Given the description of an element on the screen output the (x, y) to click on. 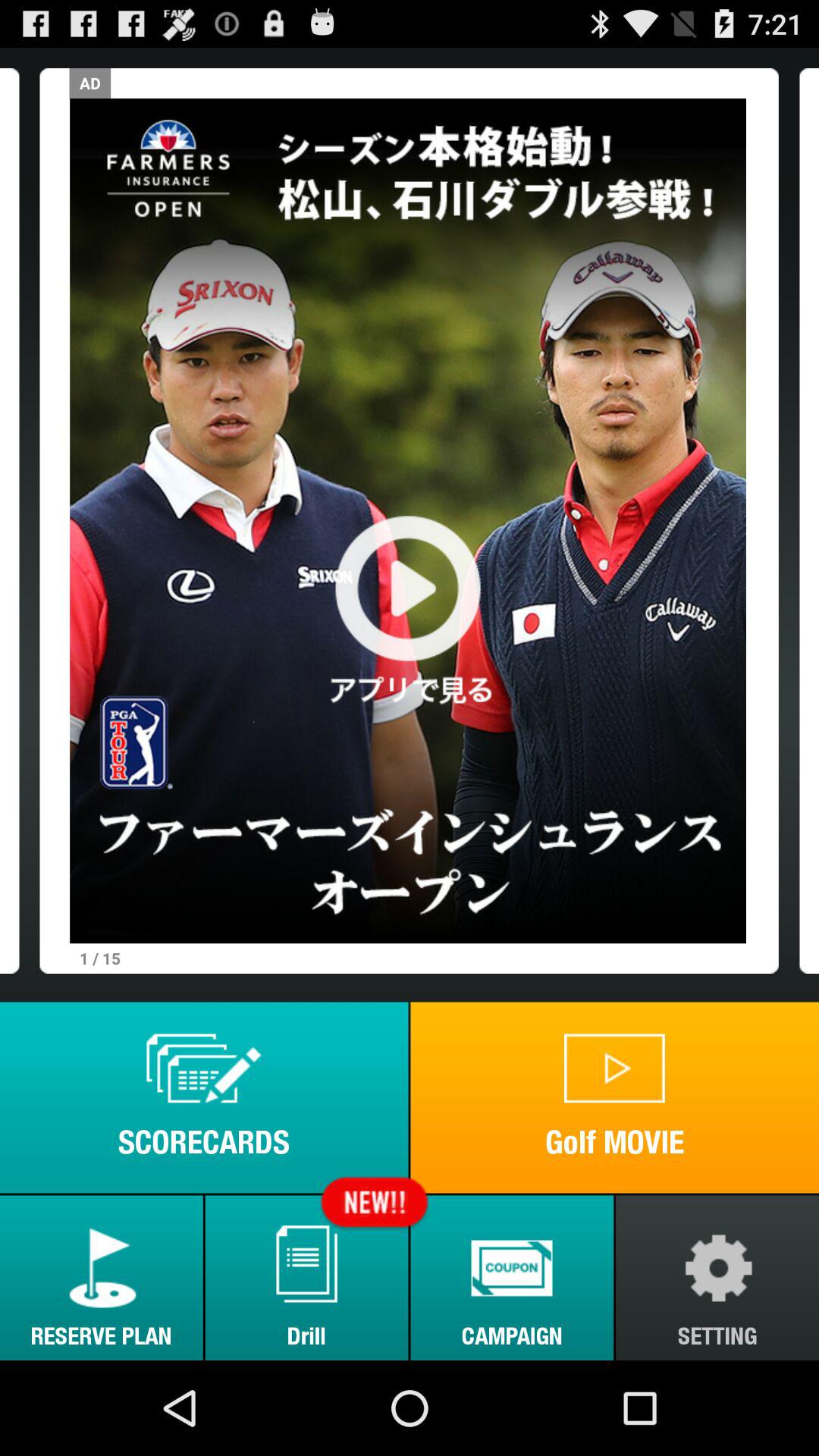
open icon next to reserve plan button (306, 1277)
